Given the description of an element on the screen output the (x, y) to click on. 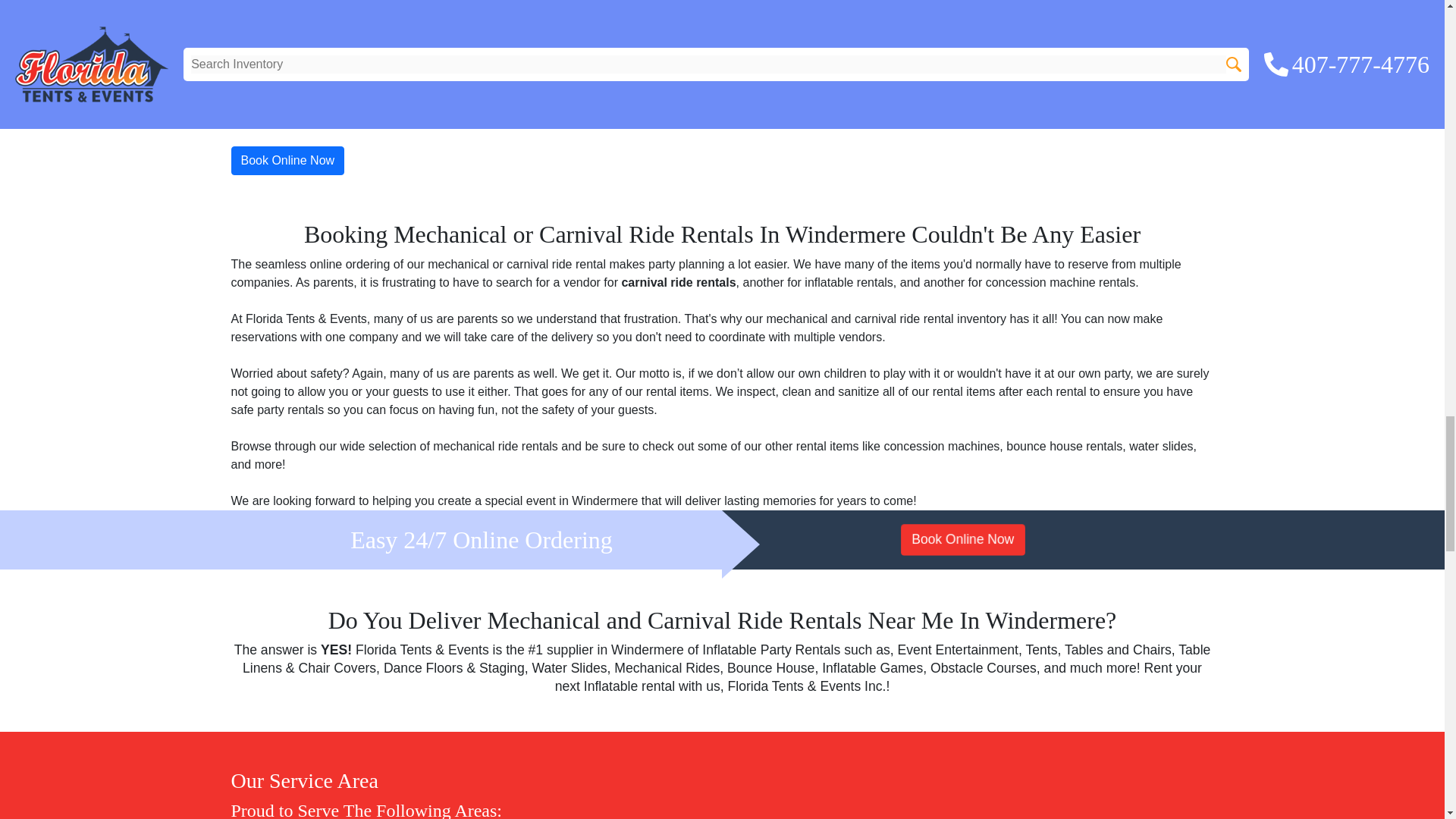
Book Online Now (957, 538)
Book Online Now (286, 160)
